Given the description of an element on the screen output the (x, y) to click on. 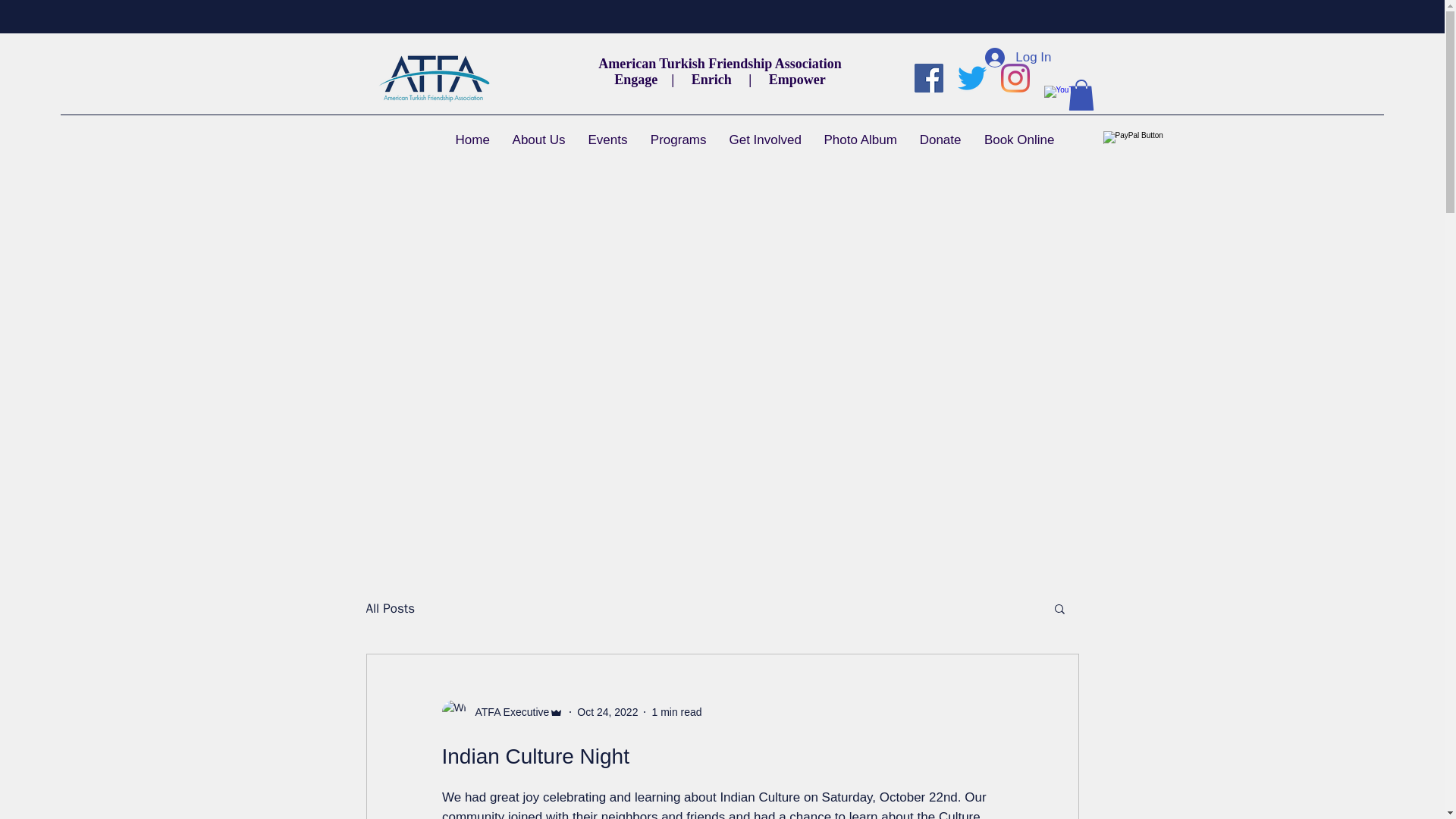
Photo Album (860, 139)
American Turkish Friendship Association (719, 63)
Donate (940, 139)
ATFA Executive (502, 711)
About Us (538, 139)
Events (607, 139)
ATFA Executive (506, 711)
1 min read (675, 711)
Home (472, 139)
Book Online (1018, 139)
Programs (678, 139)
Get Involved (764, 139)
Log In (1017, 57)
Oct 24, 2022 (606, 711)
All Posts (389, 607)
